Given the description of an element on the screen output the (x, y) to click on. 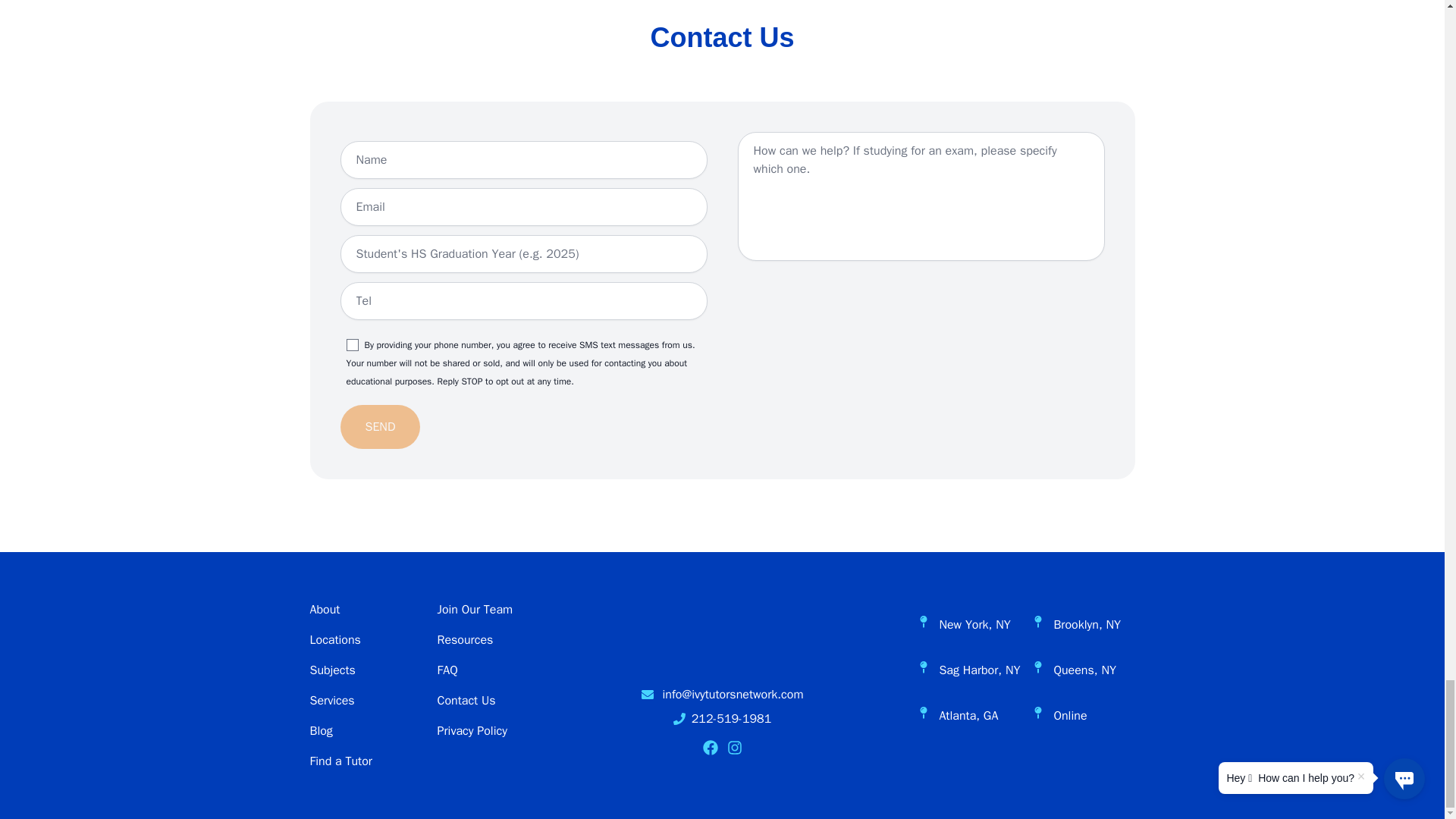
Resources (464, 639)
Join Our Team (474, 609)
Privacy Policy (471, 730)
SEND (379, 426)
About (323, 609)
Blog (319, 730)
Locations (333, 639)
FAQ (446, 670)
Subjects (331, 670)
false (352, 345)
Services (330, 700)
Find a Tutor (339, 761)
Contact Us (465, 700)
